Given the description of an element on the screen output the (x, y) to click on. 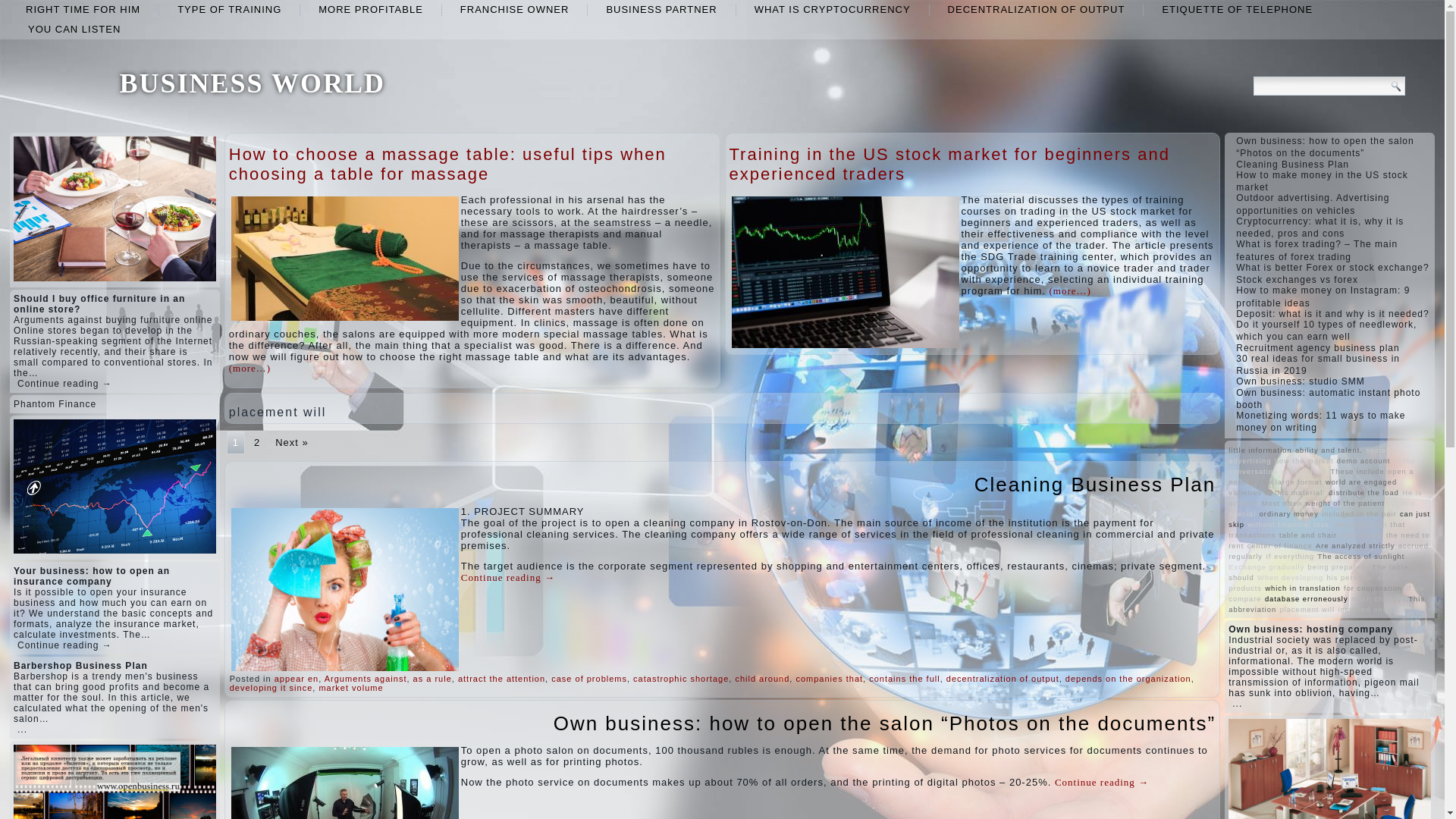
ETIQUETTE OF TELEPHONE (1236, 9)
Arguments against (365, 678)
right time for him (82, 9)
What is cryptocurrency (832, 9)
Etiquette of telephone (1236, 9)
decentralization of output (1036, 9)
DECENTRALIZATION OF OUTPUT (1036, 9)
market volume (350, 687)
Cleaning Business Plan (1094, 484)
BUSINESS PARTNER (661, 9)
